Given the description of an element on the screen output the (x, y) to click on. 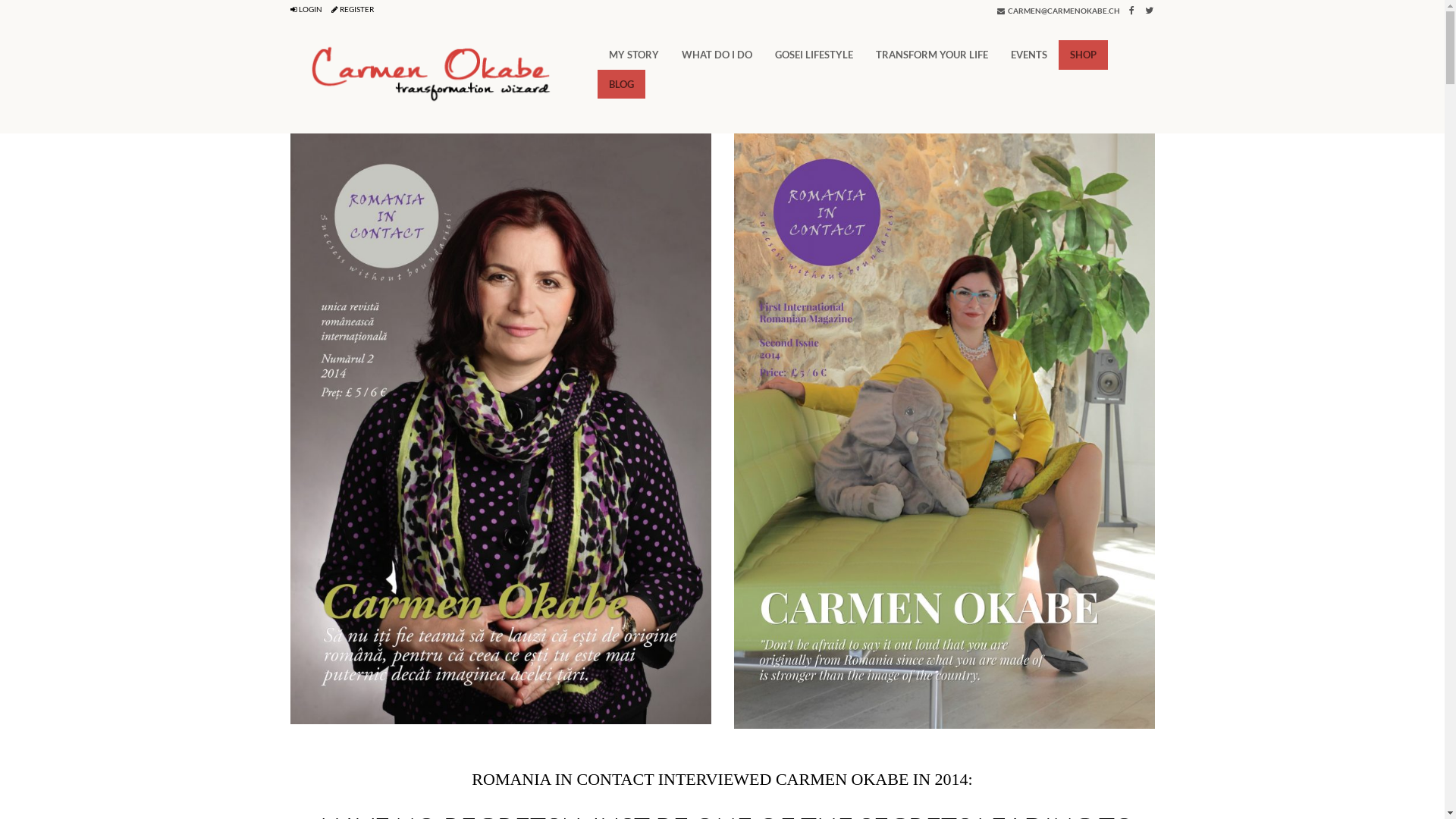
GOSEI LIFESTYLE Element type: text (814, 54)
WHAT DO I DO Element type: text (716, 54)
BLOG Element type: text (620, 84)
LOGIN Element type: text (305, 8)
TRANSFORM YOUR LIFE Element type: text (931, 54)
REGISTER Element type: text (351, 8)
MY STORY Element type: text (633, 54)
SHOP Element type: text (1083, 54)
EVENTS Element type: text (1028, 54)
CARMEN@CARMENOKABE.CH Element type: text (1057, 10)
